Given the description of an element on the screen output the (x, y) to click on. 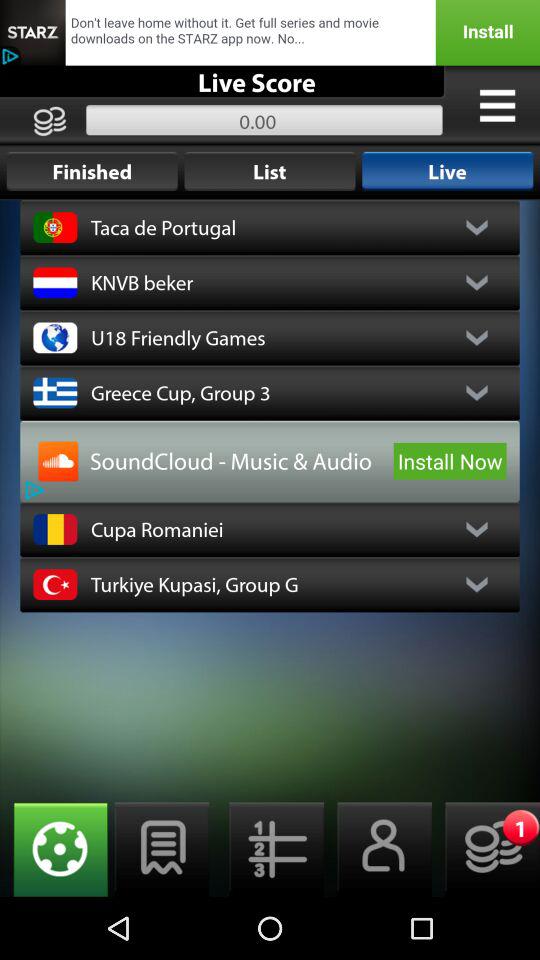
more (497, 105)
